Given the description of an element on the screen output the (x, y) to click on. 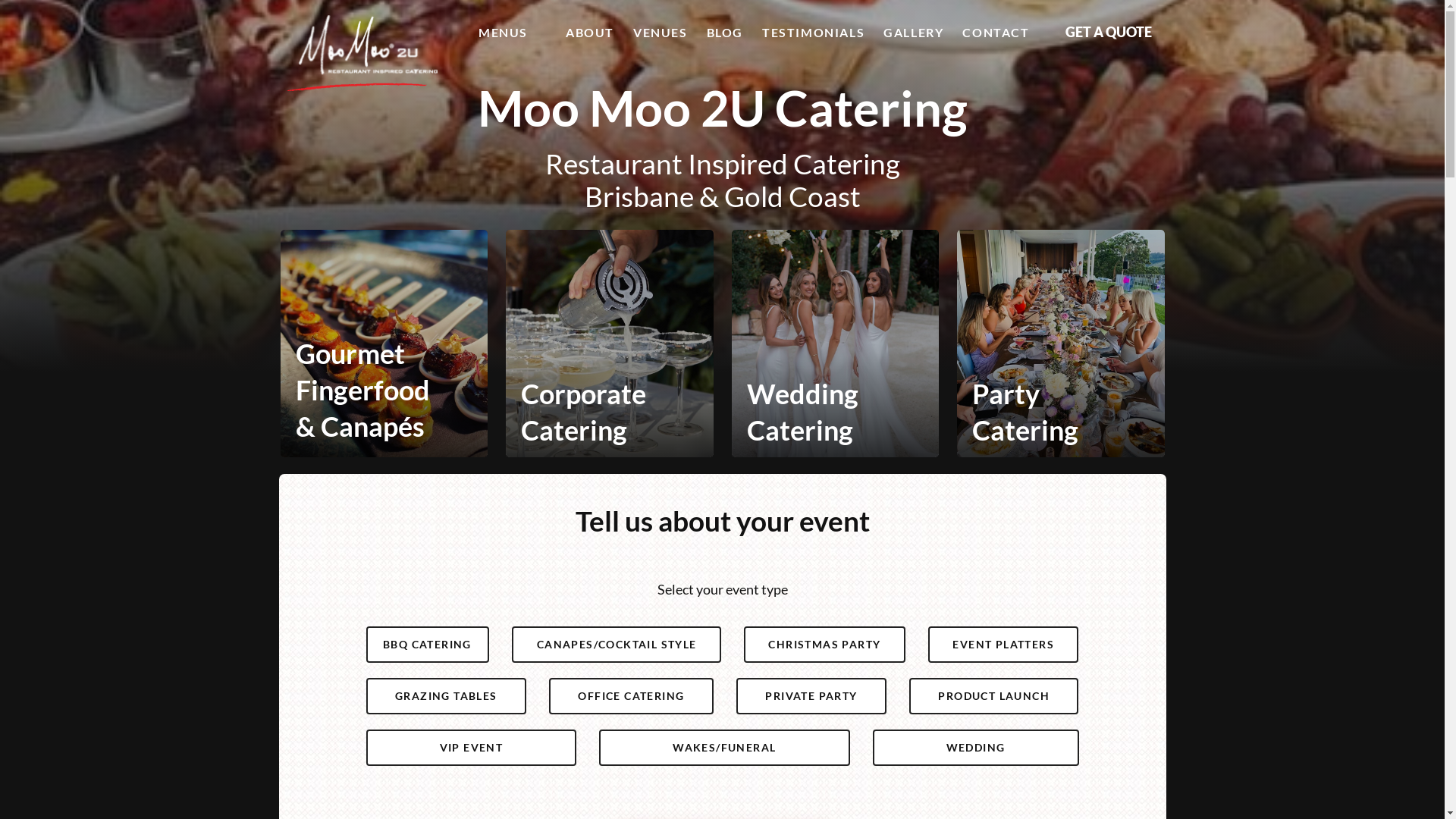
CONTACT Element type: text (995, 32)
WEDDING Element type: text (975, 747)
GALLERY Element type: text (913, 32)
CHRISTMAS PARTY Element type: text (824, 644)
TESTIMONIALS Element type: text (813, 32)
ABOUT Element type: text (589, 32)
Corporate Catering Element type: text (609, 414)
PRIVATE PARTY Element type: text (810, 695)
OFFICE CATERING Element type: text (630, 695)
WAKES/FUNERAL Element type: text (723, 747)
Wedding Catering Element type: text (834, 414)
PRODUCT LAUNCH Element type: text (993, 695)
CANAPES/COCKTAIL STYLE Element type: text (616, 644)
EVENT PLATTERS Element type: text (1002, 644)
VIP EVENT Element type: text (471, 747)
BLOG Element type: text (724, 32)
BBQ CATERING Element type: text (427, 644)
Party Catering Element type: text (1060, 414)
VENUES Element type: text (660, 32)
GRAZING TABLES Element type: text (446, 695)
MENUS Element type: text (502, 32)
GET A QUOTE Element type: text (1108, 31)
